Given the description of an element on the screen output the (x, y) to click on. 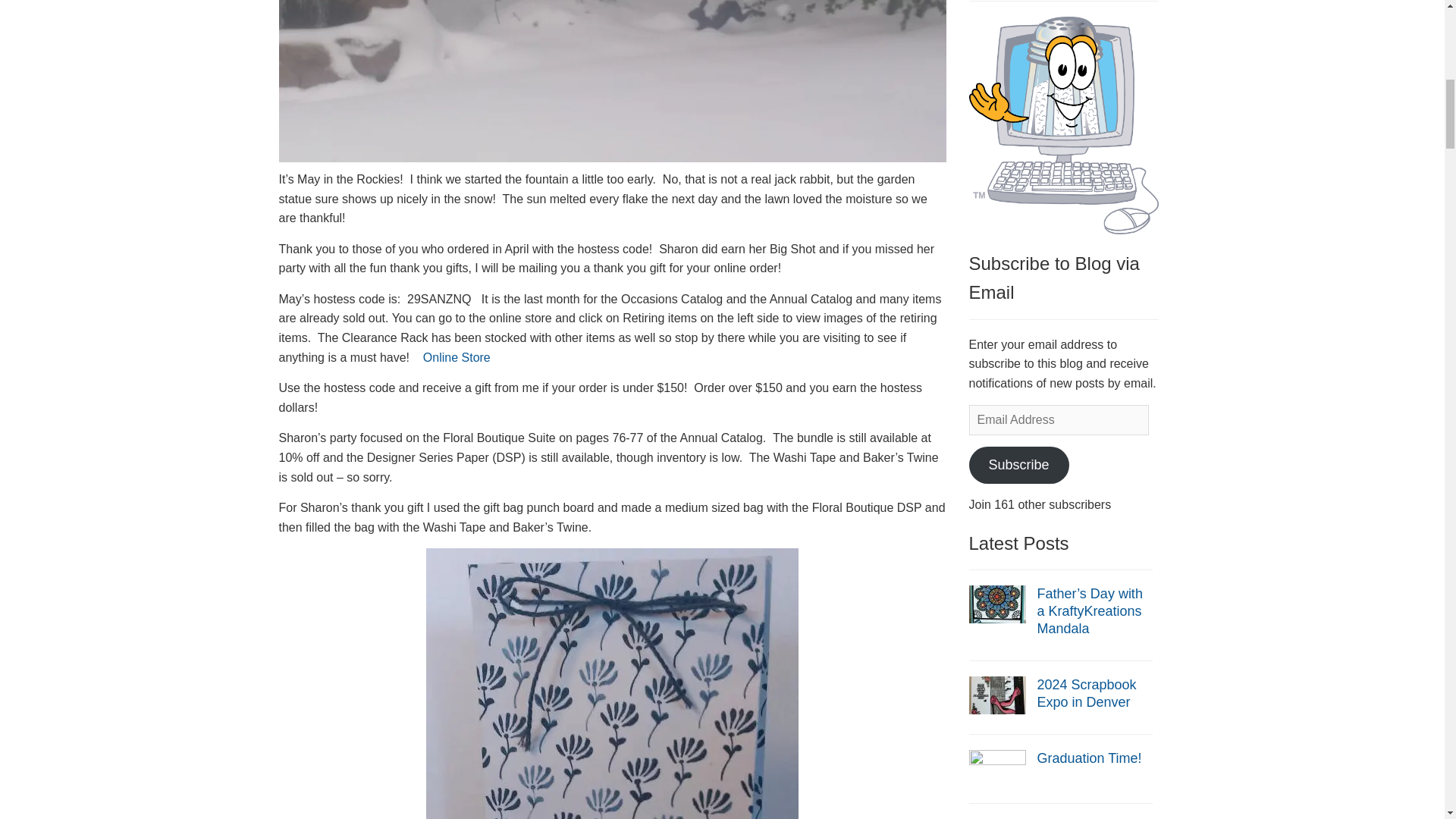
Permanent Link to Graduation Time! (997, 767)
Permanent Link to 2024 Scrapbook Expo in Denver (997, 694)
Online Store   (460, 357)
